Given the description of an element on the screen output the (x, y) to click on. 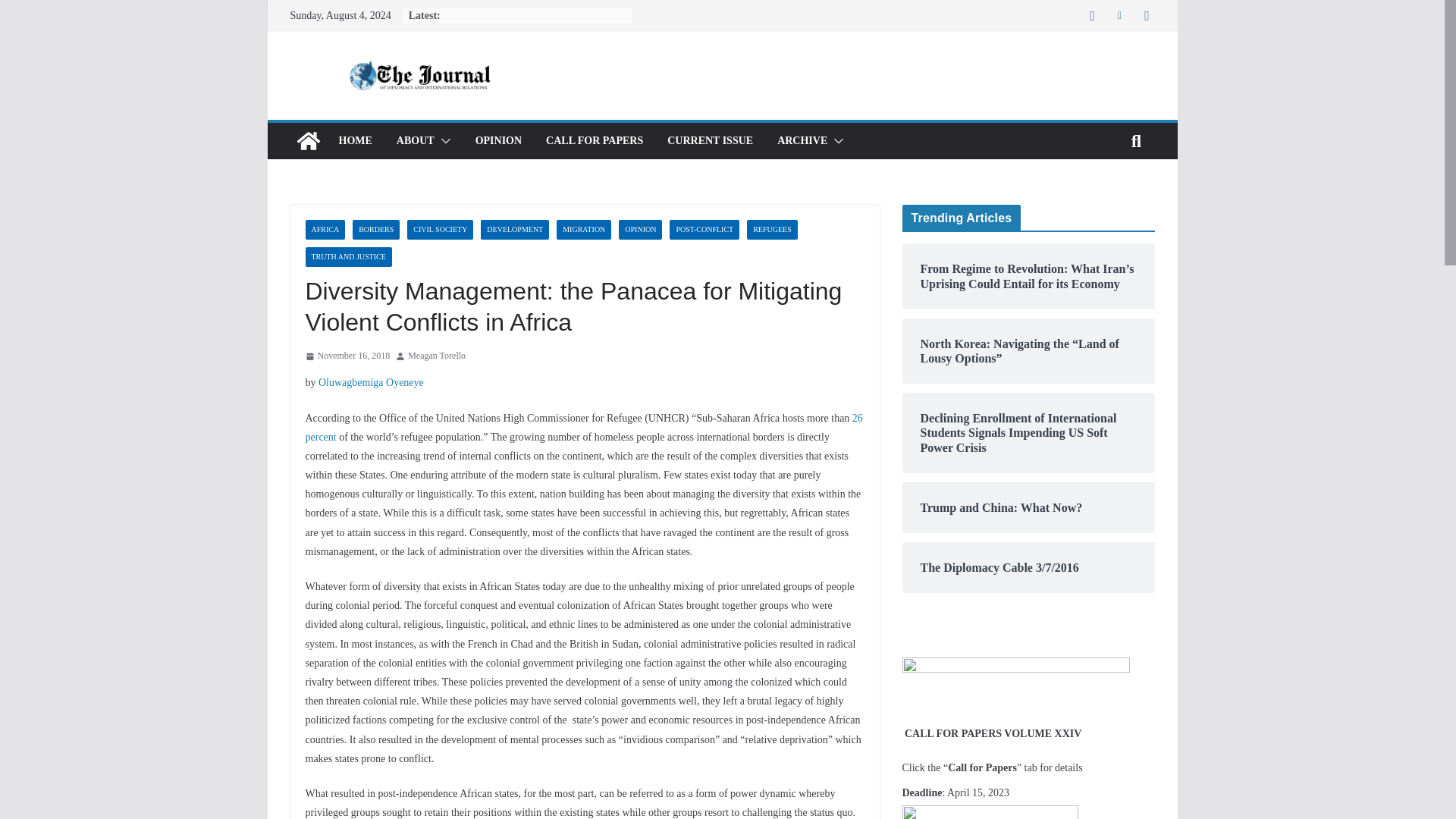
DEVELOPMENT (514, 229)
CIVIL SOCIETY (440, 229)
REFUGEES (771, 229)
ARCHIVE (802, 140)
26 percent (582, 427)
HOME (354, 140)
CURRENT ISSUE (709, 140)
Meagan Torello (436, 356)
Meagan Torello (436, 356)
OPINION (498, 140)
The Journal of Diplomacy and International Relations (307, 140)
TRUTH AND JUSTICE (347, 256)
MIGRATION (583, 229)
OPINION (640, 229)
POST-CONFLICT (704, 229)
